Given the description of an element on the screen output the (x, y) to click on. 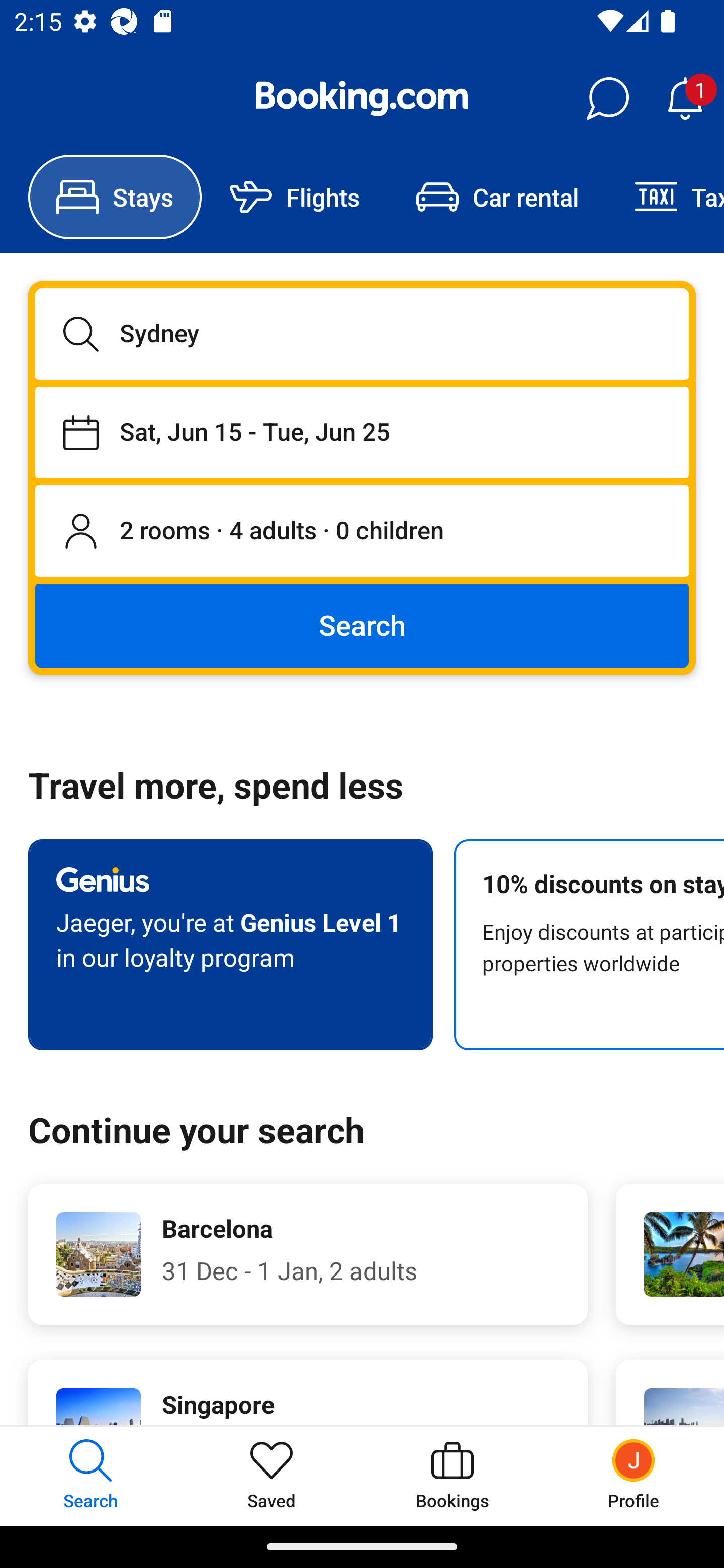
Messages (607, 98)
Notifications (685, 98)
Stays (114, 197)
Flights (294, 197)
Car rental (497, 197)
Taxi (665, 197)
Sydney (361, 333)
Staying from Sat, Jun 15 until Tue, Jun 25 (361, 432)
2 rooms, 4 adults, 0 children (361, 531)
Search (361, 625)
Barcelona 31 Dec - 1 Jan, 2 adults (307, 1253)
Saved (271, 1475)
Bookings (452, 1475)
Profile (633, 1475)
